Given the description of an element on the screen output the (x, y) to click on. 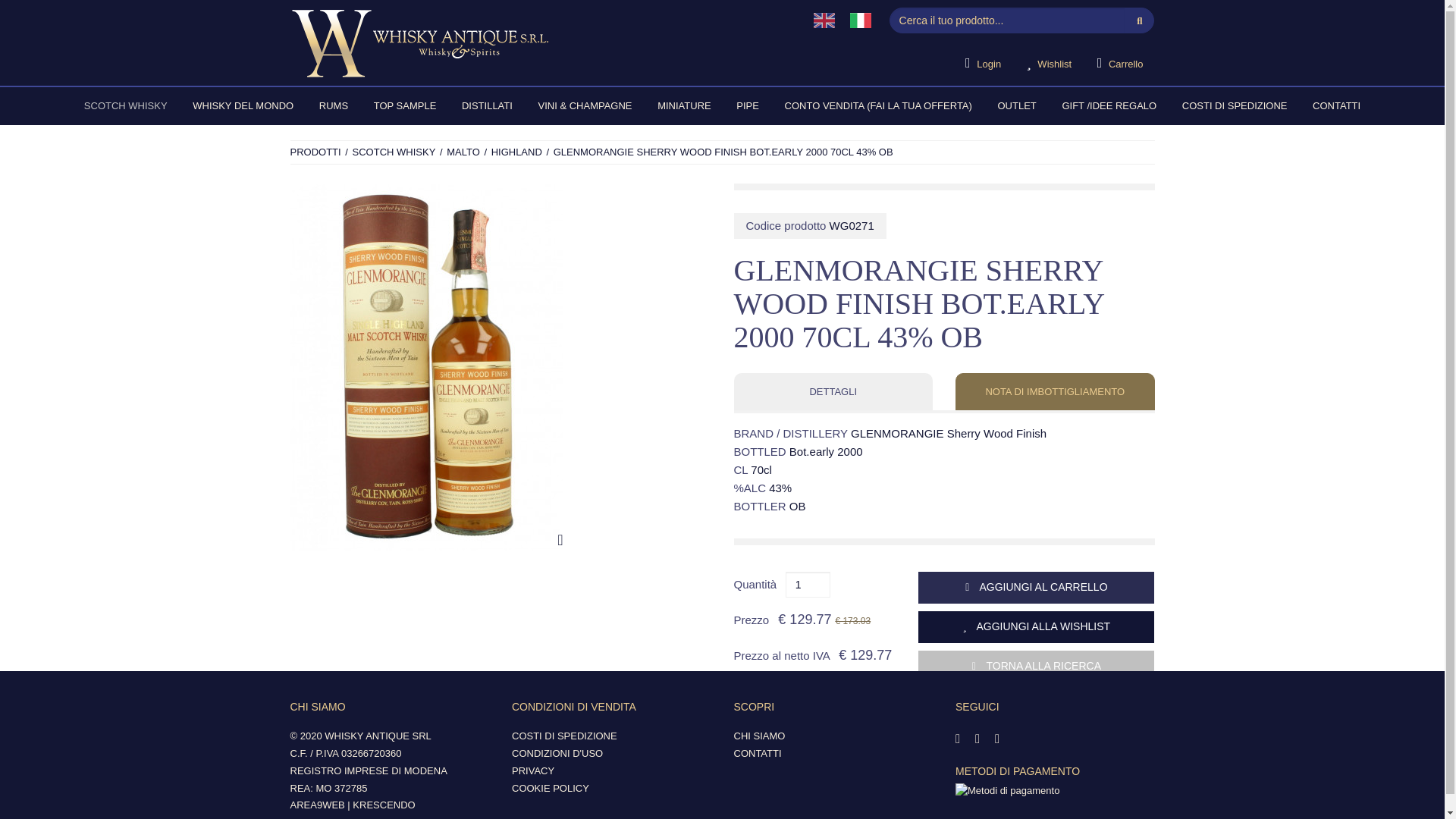
WHISKY DEL MONDO (242, 105)
EN (824, 19)
Wishlist (1048, 64)
Login (982, 64)
Carrello (1120, 64)
Login (982, 64)
Home (536, 43)
EN (823, 20)
Wishlist (1048, 64)
RUMS (333, 105)
